Given the description of an element on the screen output the (x, y) to click on. 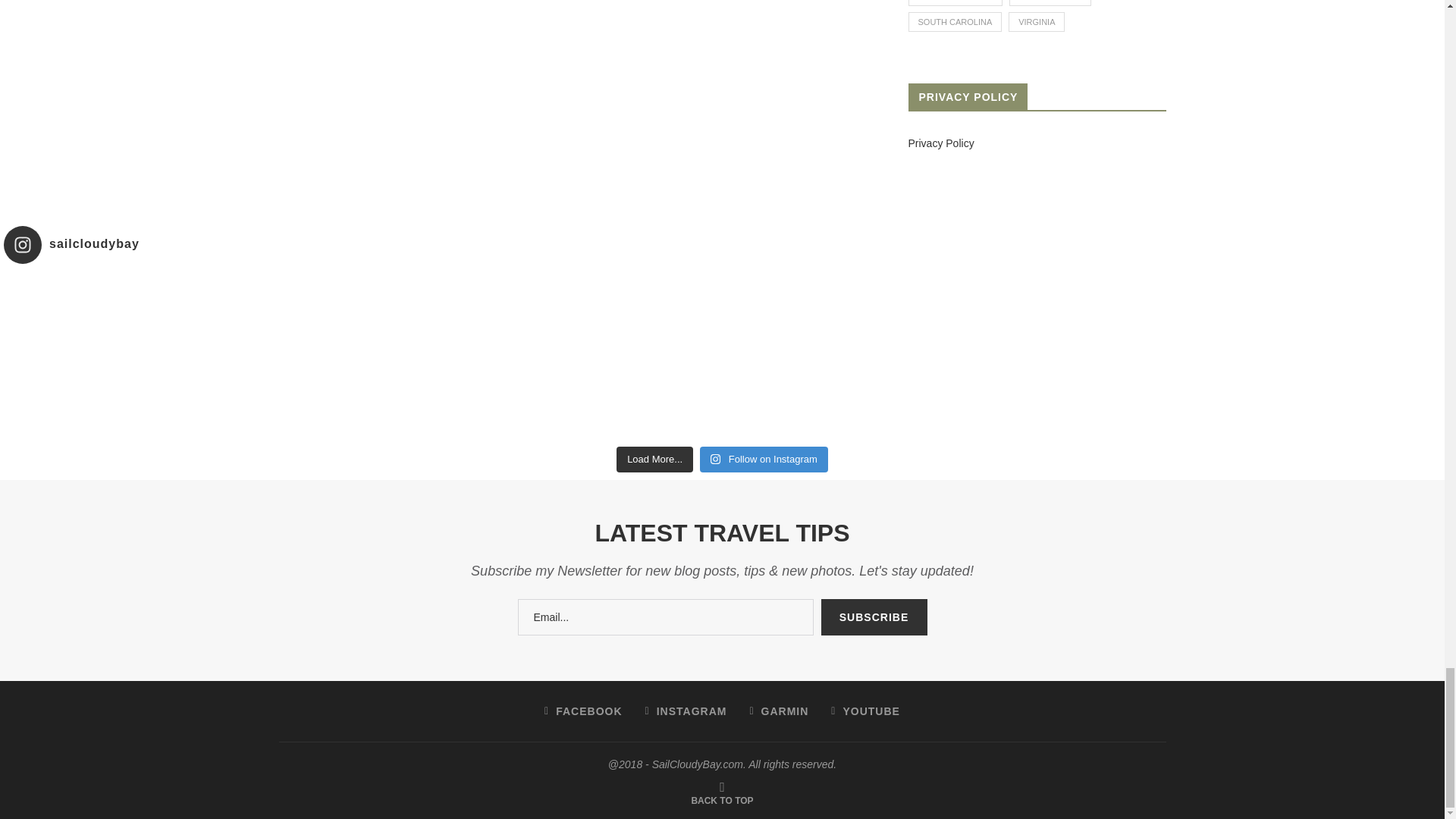
Subscribe (873, 616)
